Given the description of an element on the screen output the (x, y) to click on. 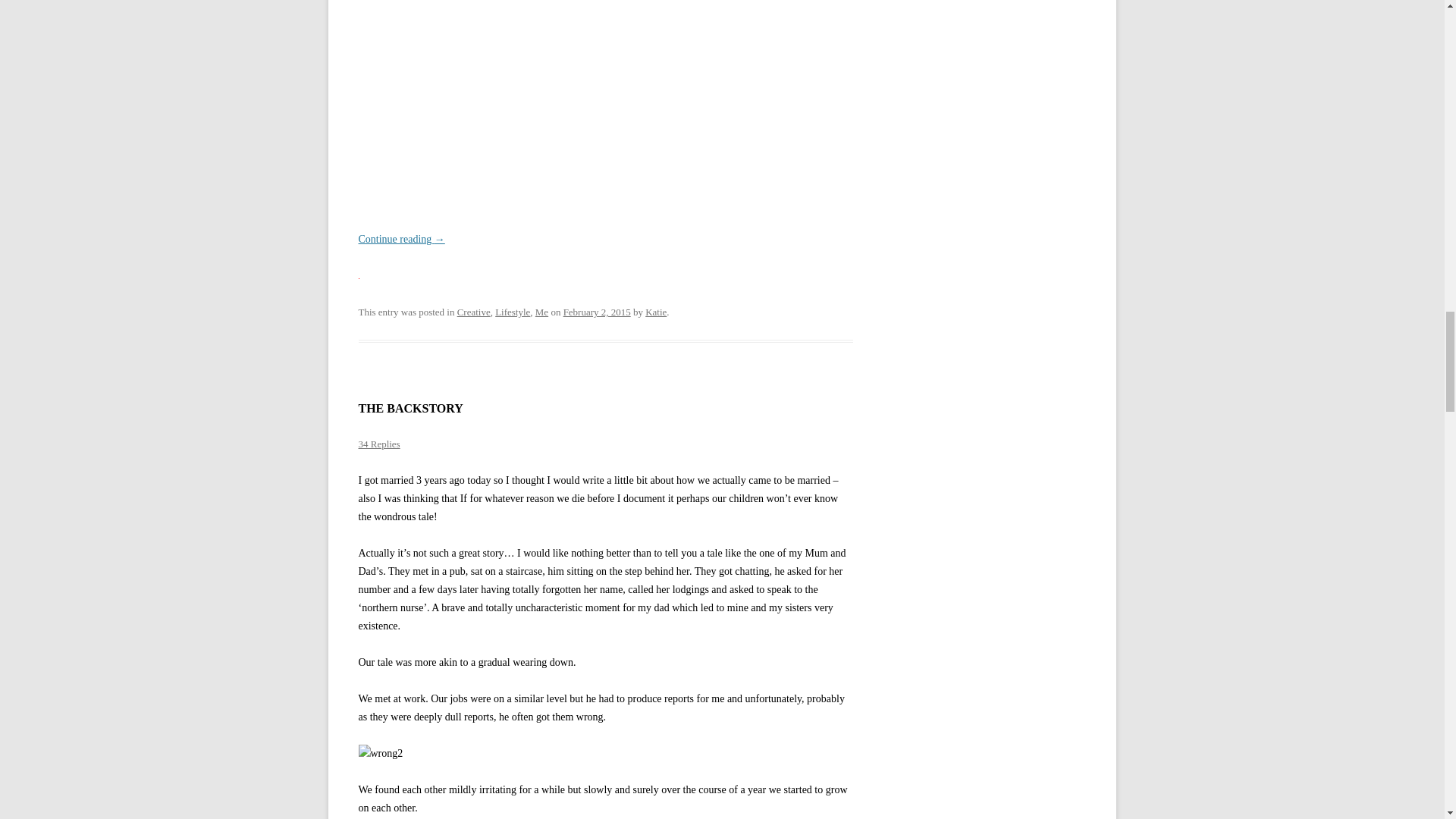
Me (541, 311)
8:17 pm (596, 311)
34 Replies (378, 443)
Katie (655, 311)
Creative (473, 311)
THE BACKSTORY (410, 408)
View all posts by Katie (655, 311)
February 2, 2015 (596, 311)
Lifestyle (512, 311)
